Given the description of an element on the screen output the (x, y) to click on. 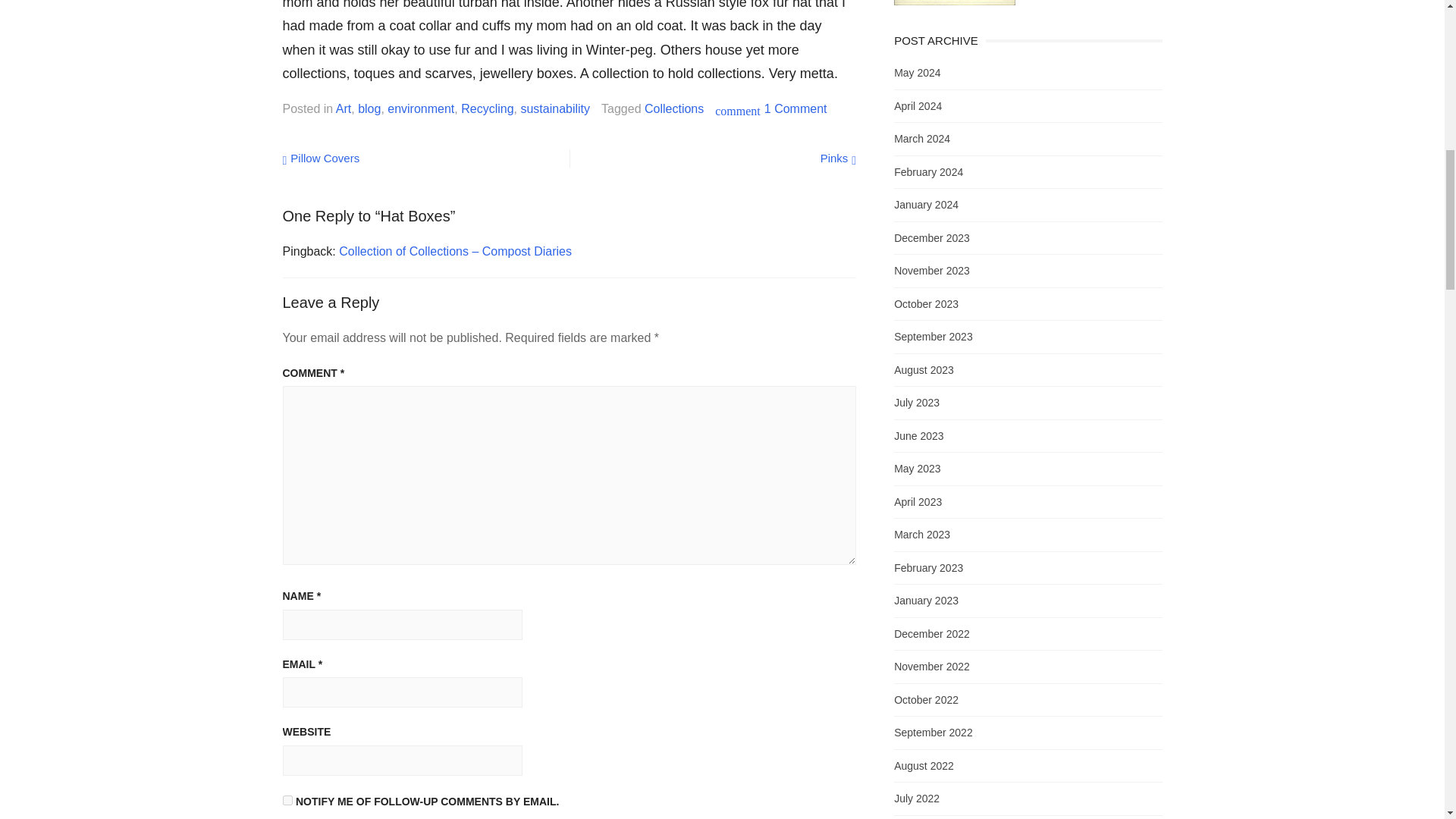
subscribe (287, 800)
March 2024 (921, 138)
environment (420, 107)
May 2024 (916, 72)
Recycling (487, 107)
sustainability (554, 107)
April 2024 (917, 105)
December 2023 (931, 237)
blog (369, 107)
Pinks (839, 157)
Pillow Covers (795, 107)
Art (320, 157)
February 2024 (343, 107)
Collections (927, 171)
